Given the description of an element on the screen output the (x, y) to click on. 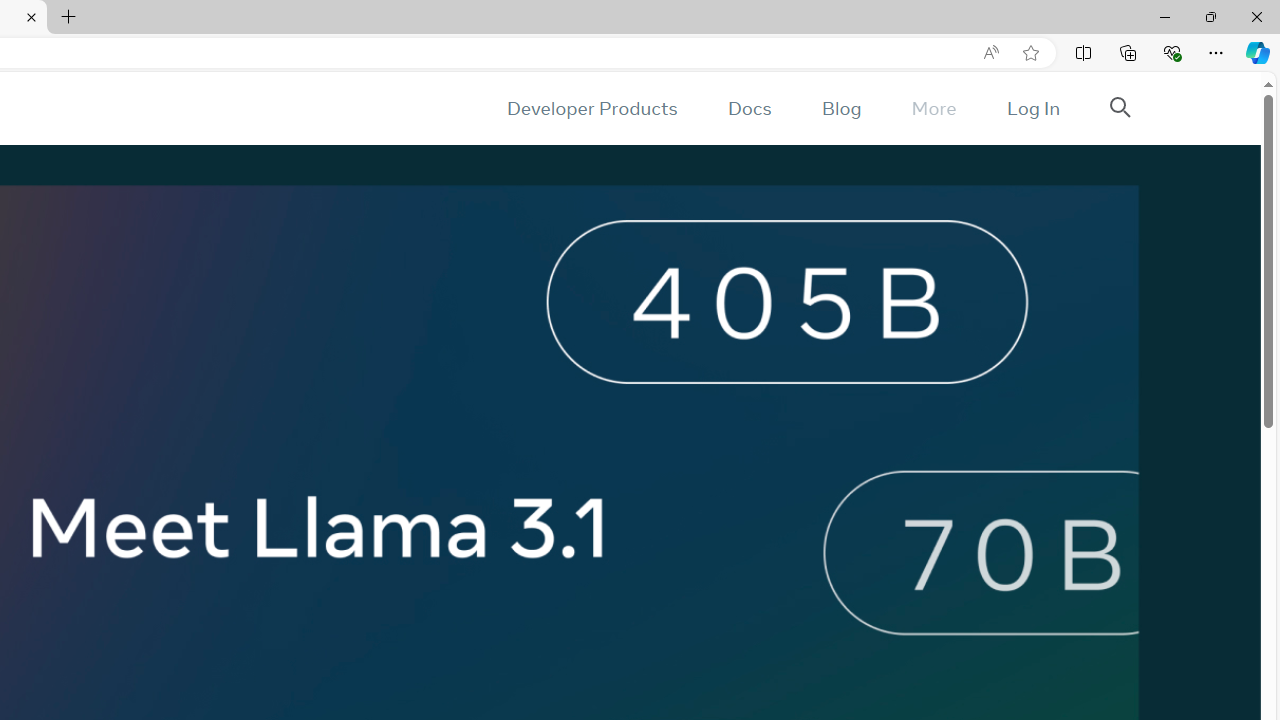
Docs (749, 108)
Blog (841, 108)
More (933, 108)
More (933, 108)
Docs (749, 108)
Log In (1032, 108)
Blog (841, 108)
Developer Products (591, 108)
